Given the description of an element on the screen output the (x, y) to click on. 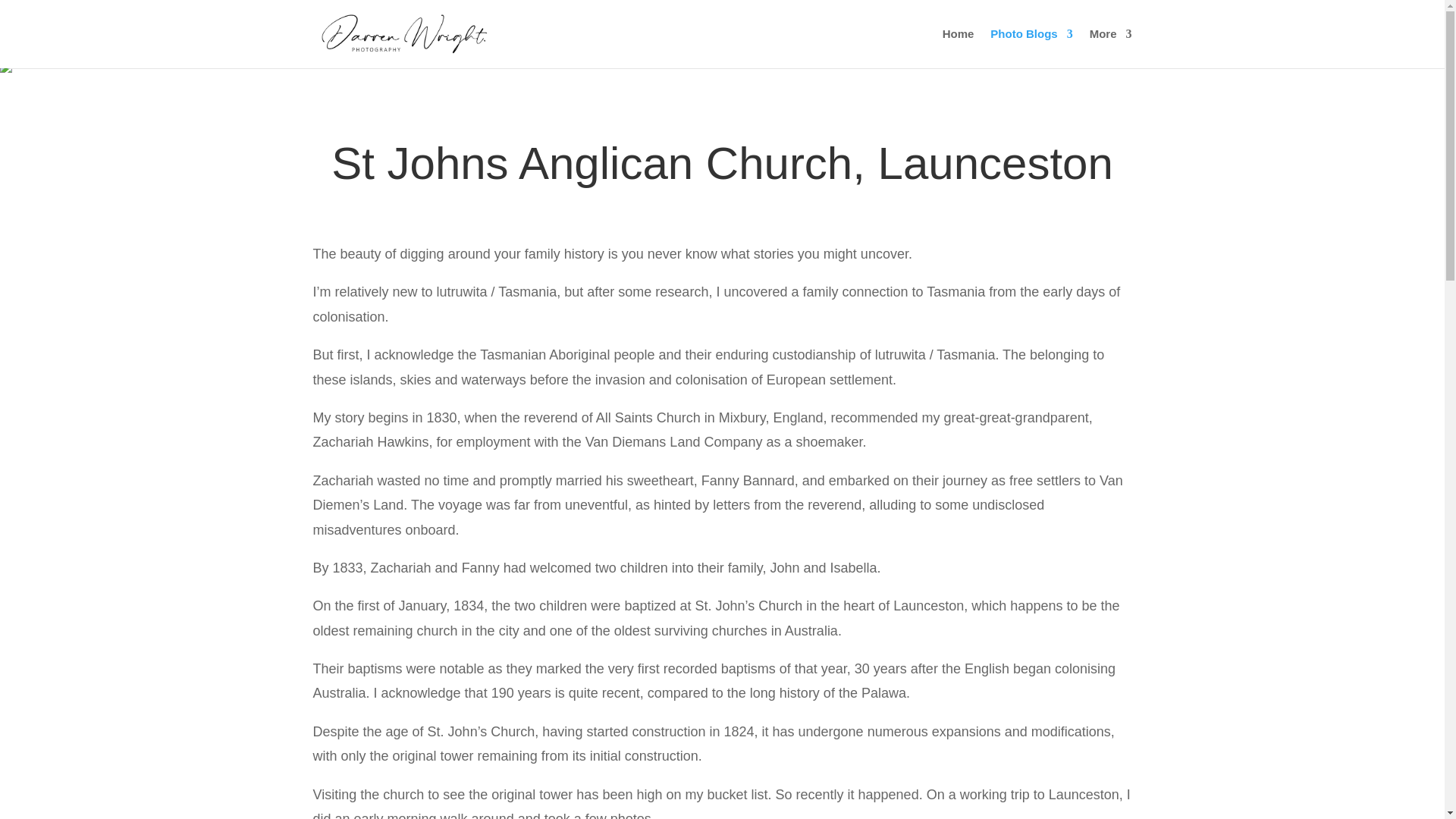
More (1110, 47)
Photo Blogs (1030, 47)
